Given the description of an element on the screen output the (x, y) to click on. 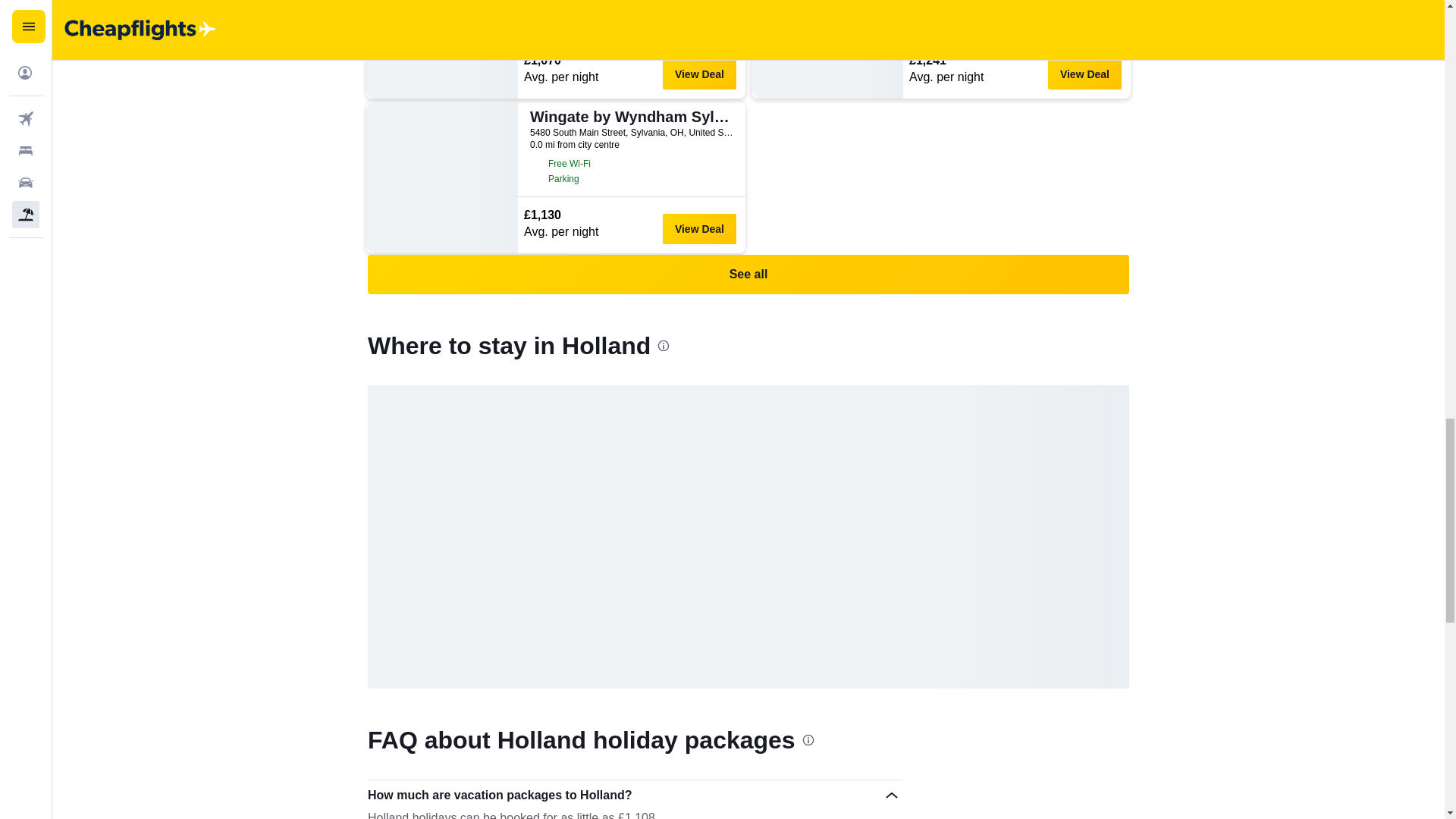
View Deal (699, 228)
View Deal (1084, 73)
View Deal (699, 73)
